Given the description of an element on the screen output the (x, y) to click on. 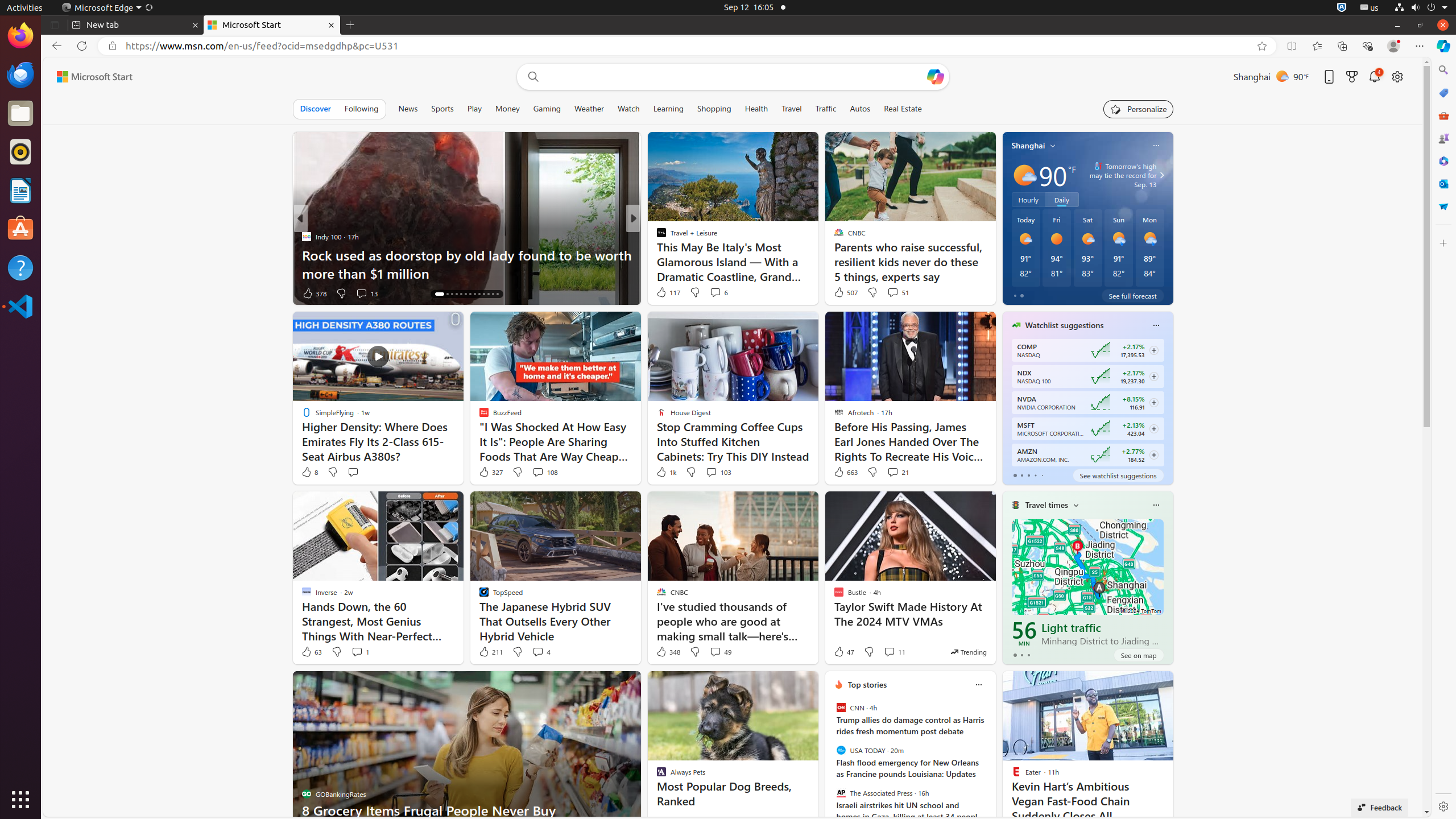
next Element type: push-button (989, 757)
Gaming Element type: link (546, 108)
Start the conversation Element type: push-button (352, 471)
4 Like Element type: toggle-button (660, 292)
View comments 49 Comment Element type: push-button (715, 651)
